Given the description of an element on the screen output the (x, y) to click on. 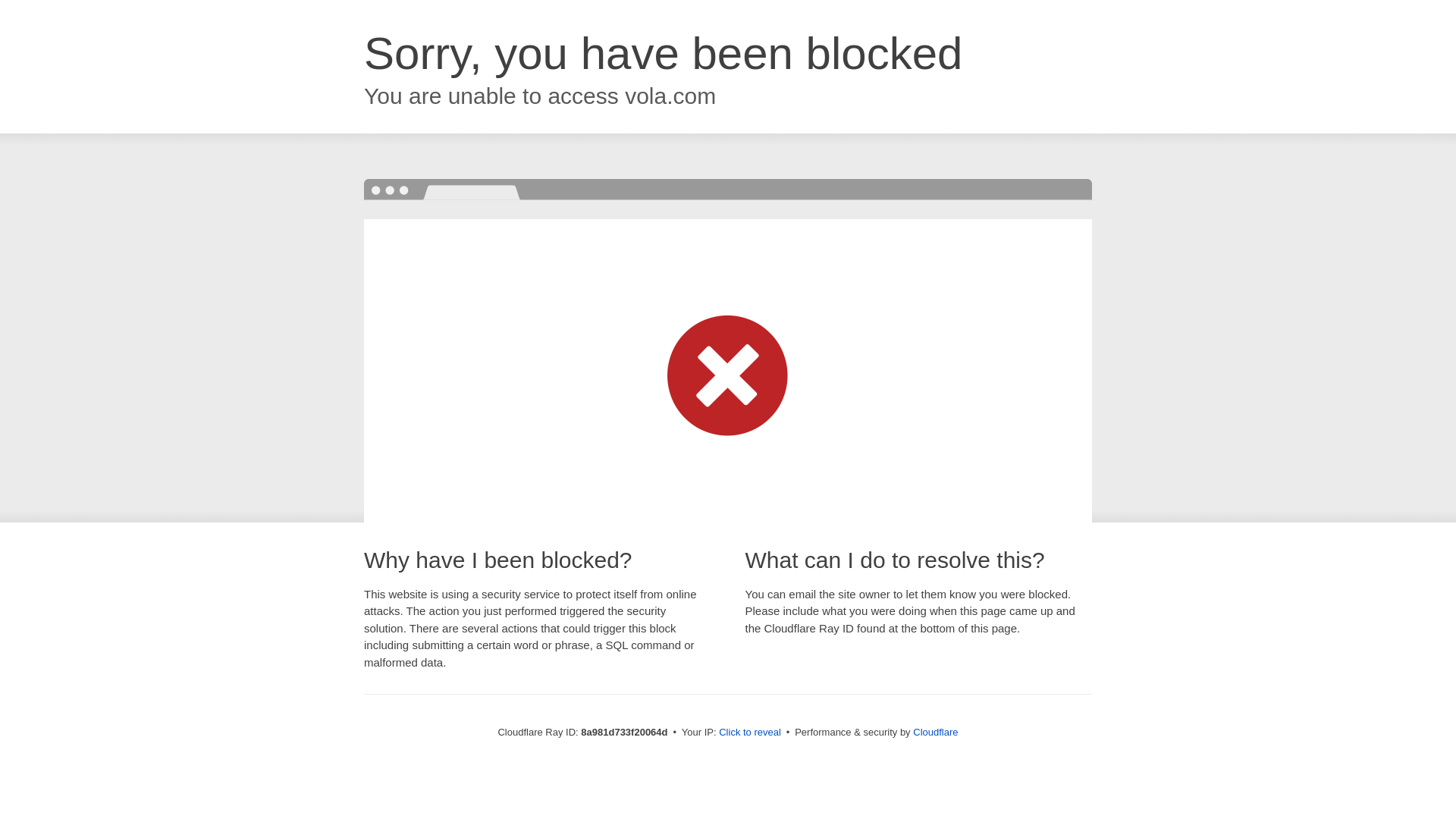
Cloudflare (935, 731)
Click to reveal (749, 732)
